Given the description of an element on the screen output the (x, y) to click on. 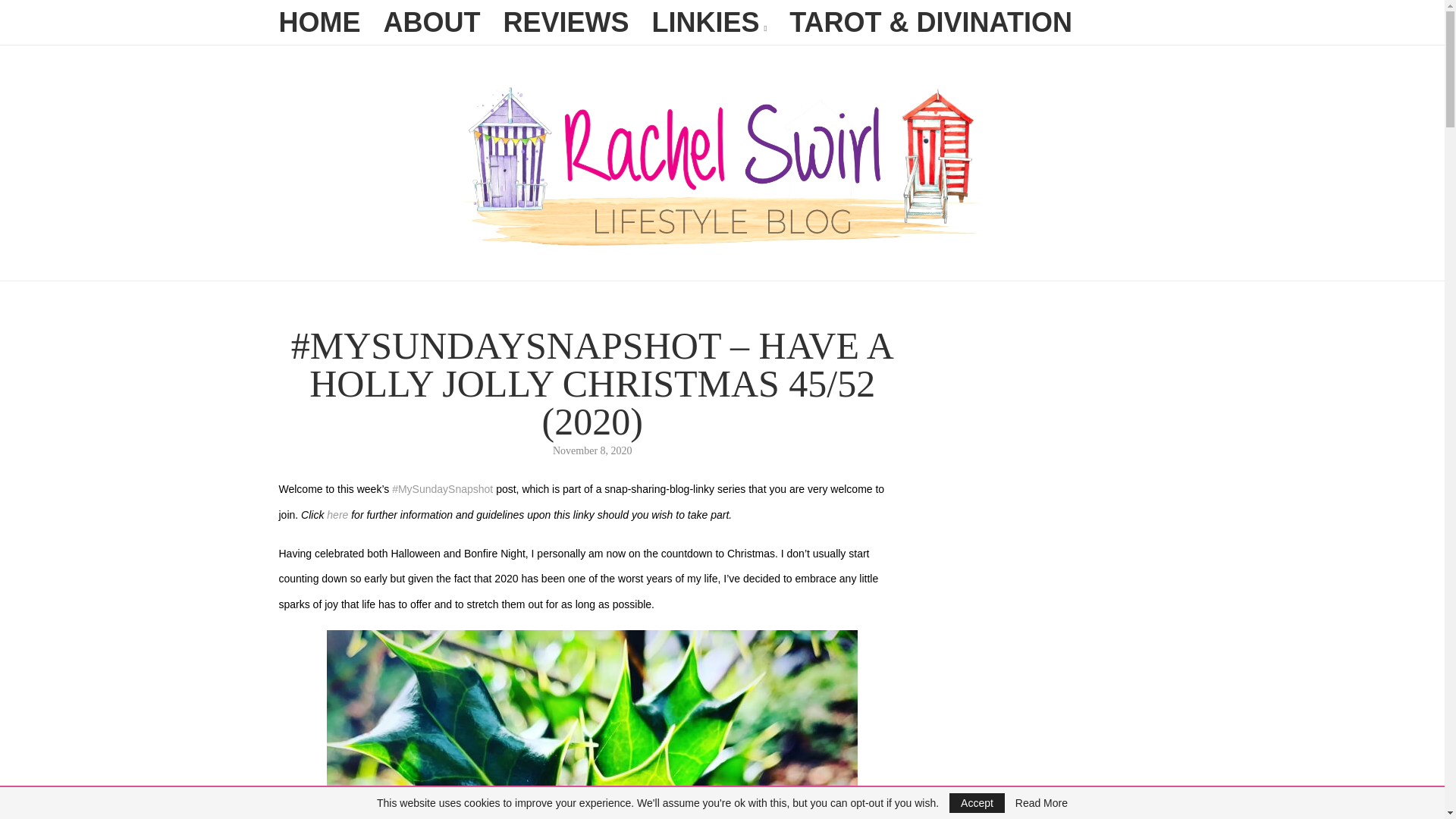
LINKIES (709, 25)
ABOUT (432, 22)
here (336, 514)
HOME (320, 22)
REVIEWS (565, 22)
